Given the description of an element on the screen output the (x, y) to click on. 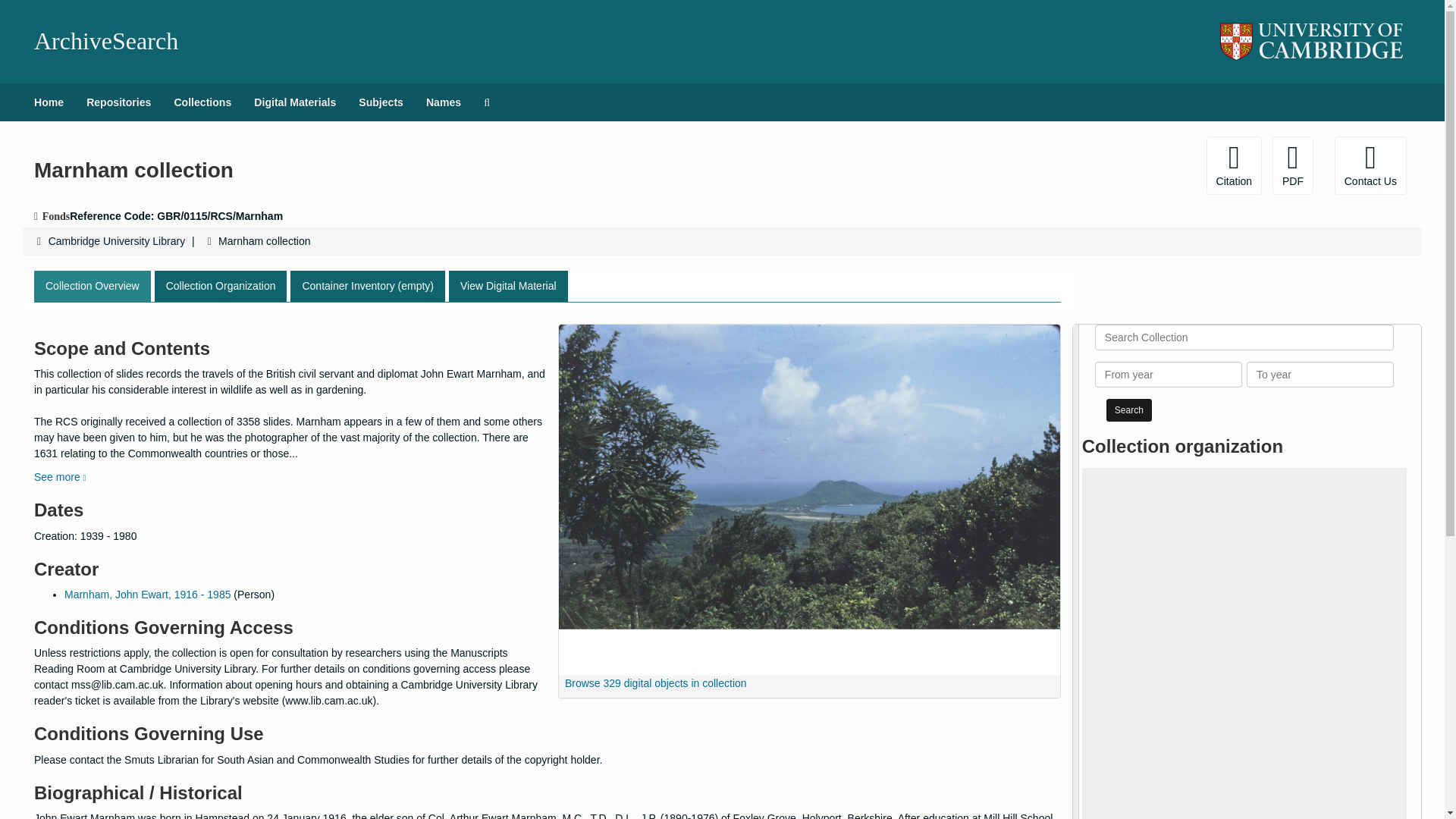
Digital Materials (295, 102)
Search (1128, 409)
Return to the ArchiveSearch homepage (105, 40)
Names (442, 102)
Subjects (380, 102)
Citation (1234, 165)
Citation (1234, 165)
Collection Organization (220, 286)
Contact Us (1370, 165)
Browse 329 digital objects in collection (652, 683)
